Given the description of an element on the screen output the (x, y) to click on. 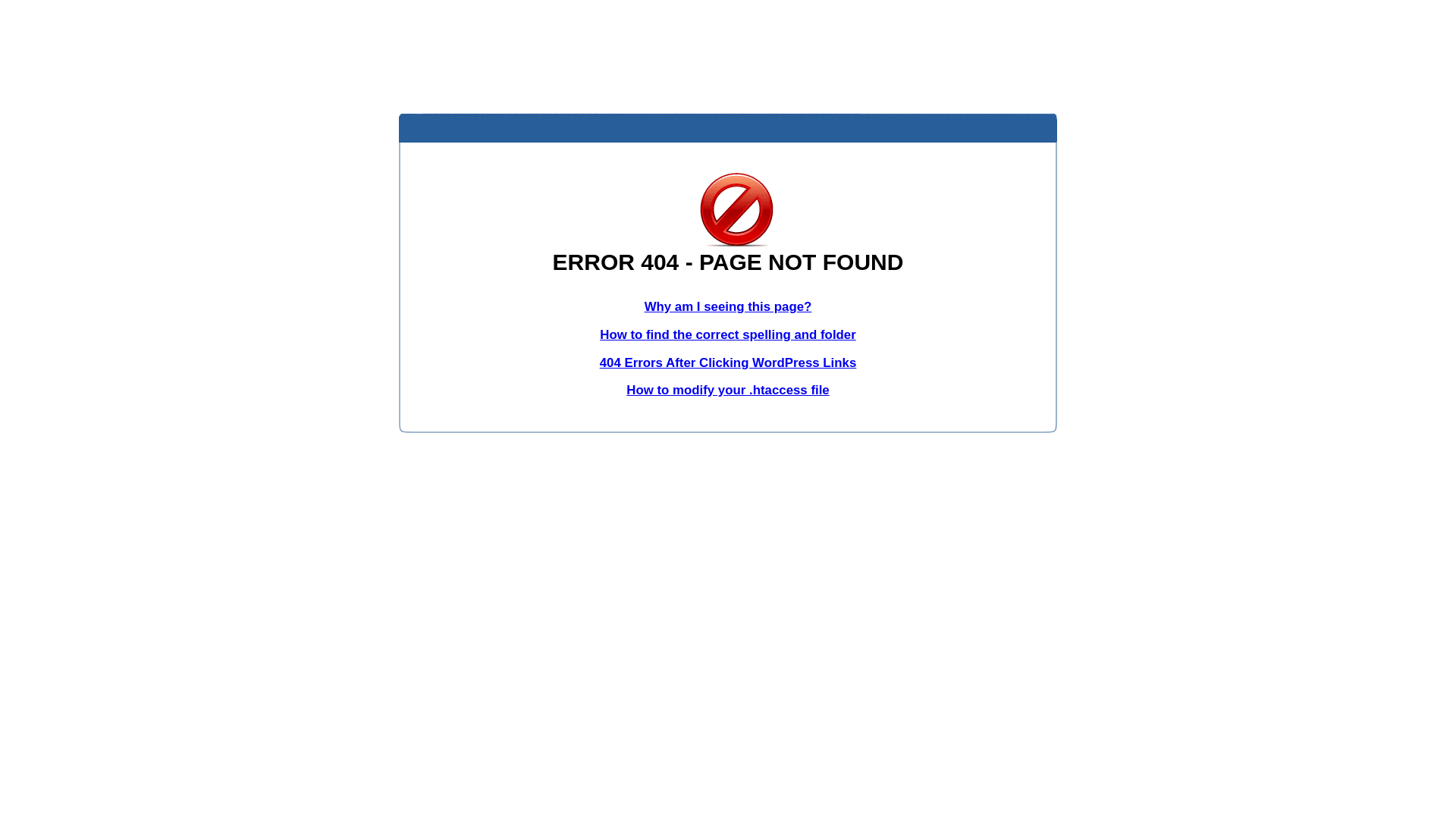
How to find the correct spelling and folder Element type: text (727, 334)
Why am I seeing this page? Element type: text (728, 306)
404 Errors After Clicking WordPress Links Element type: text (727, 362)
How to modify your .htaccess file Element type: text (727, 389)
